Given the description of an element on the screen output the (x, y) to click on. 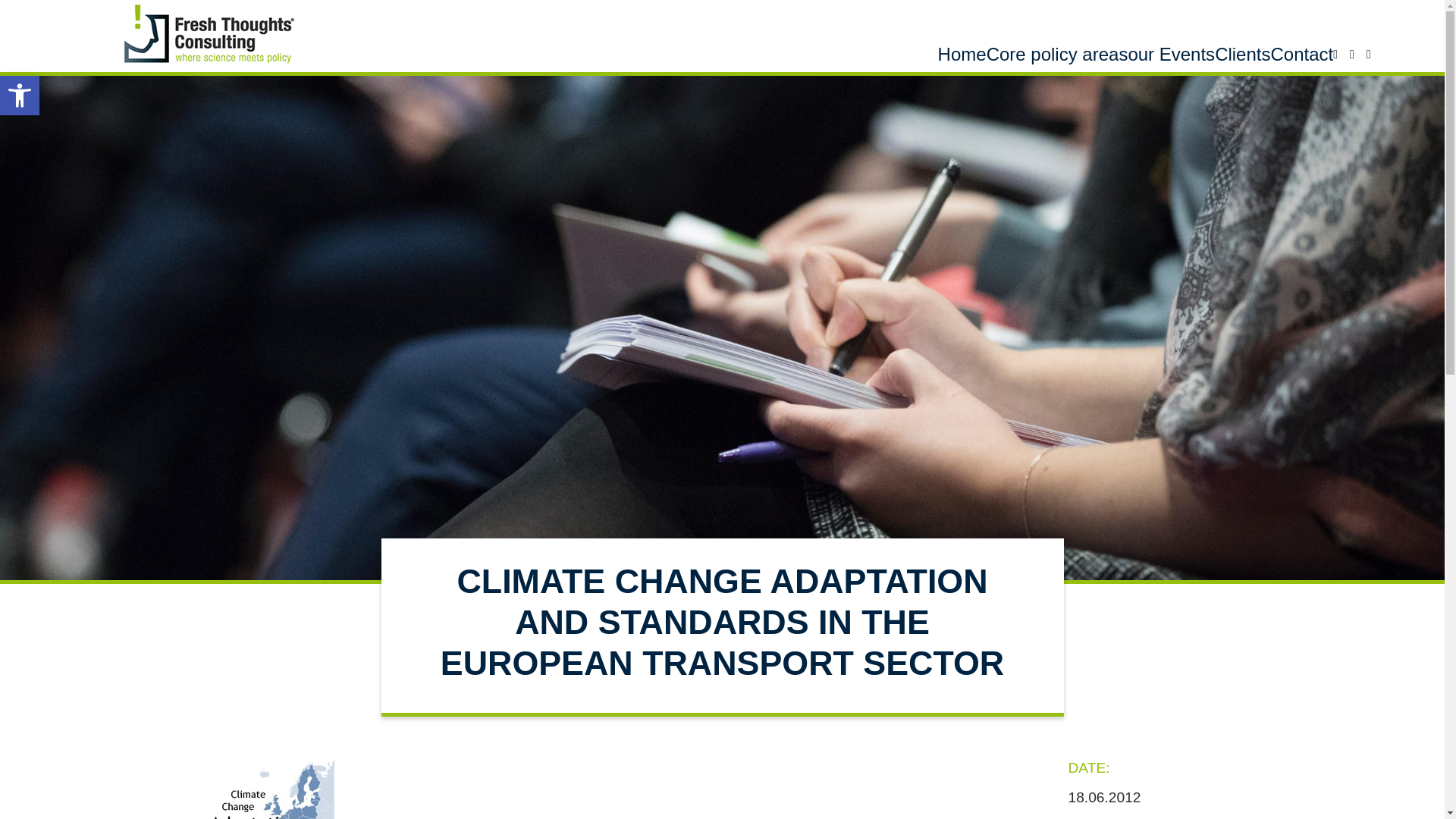
Accessibility Tools (19, 95)
Clients (1241, 54)
Clients (1241, 54)
Contact (19, 95)
Accessibility Tools (1301, 54)
Home (19, 95)
Home (962, 54)
Core policy areas (962, 54)
our Events (1057, 54)
